Given the description of an element on the screen output the (x, y) to click on. 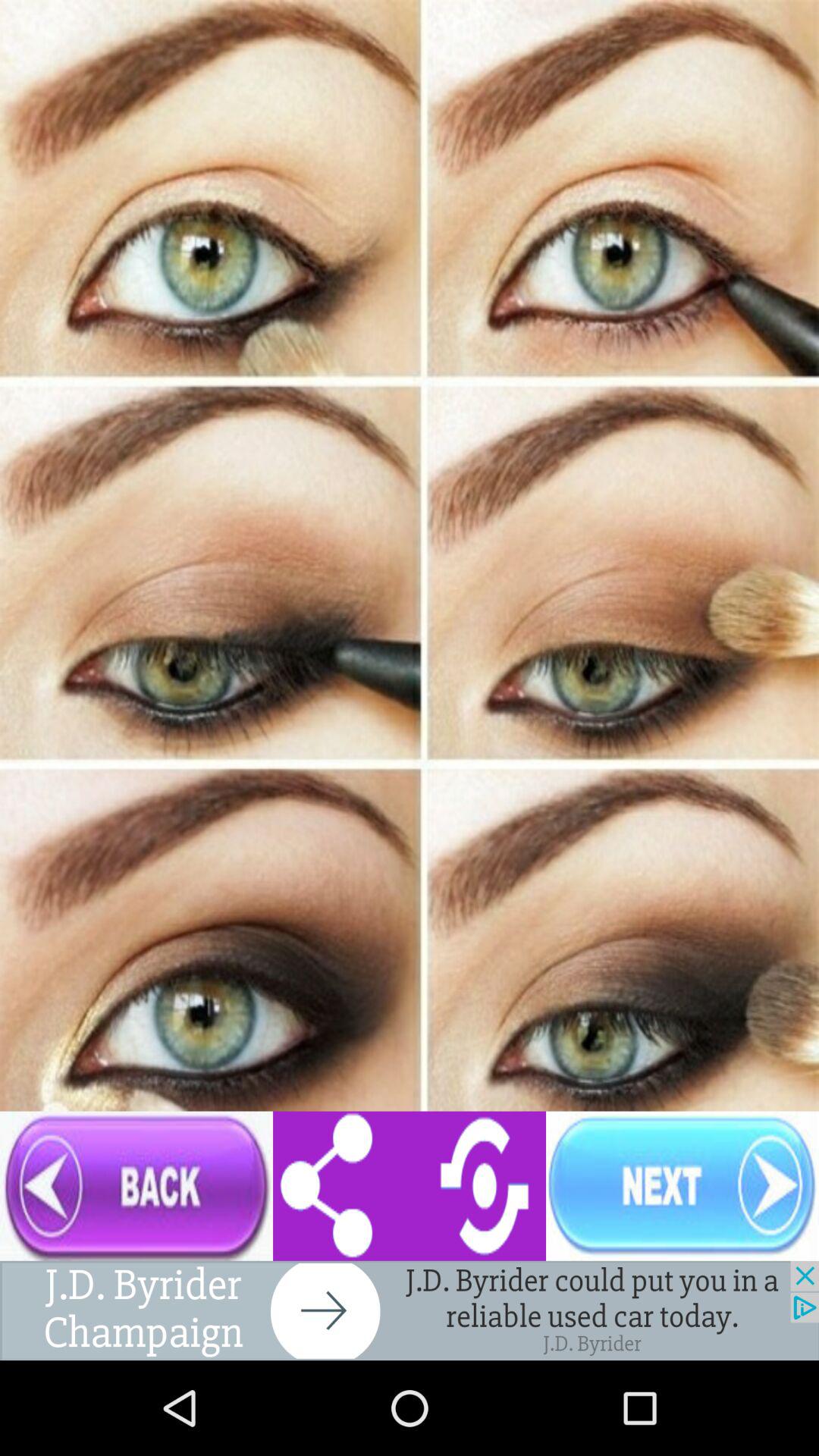
add option (409, 1310)
